Given the description of an element on the screen output the (x, y) to click on. 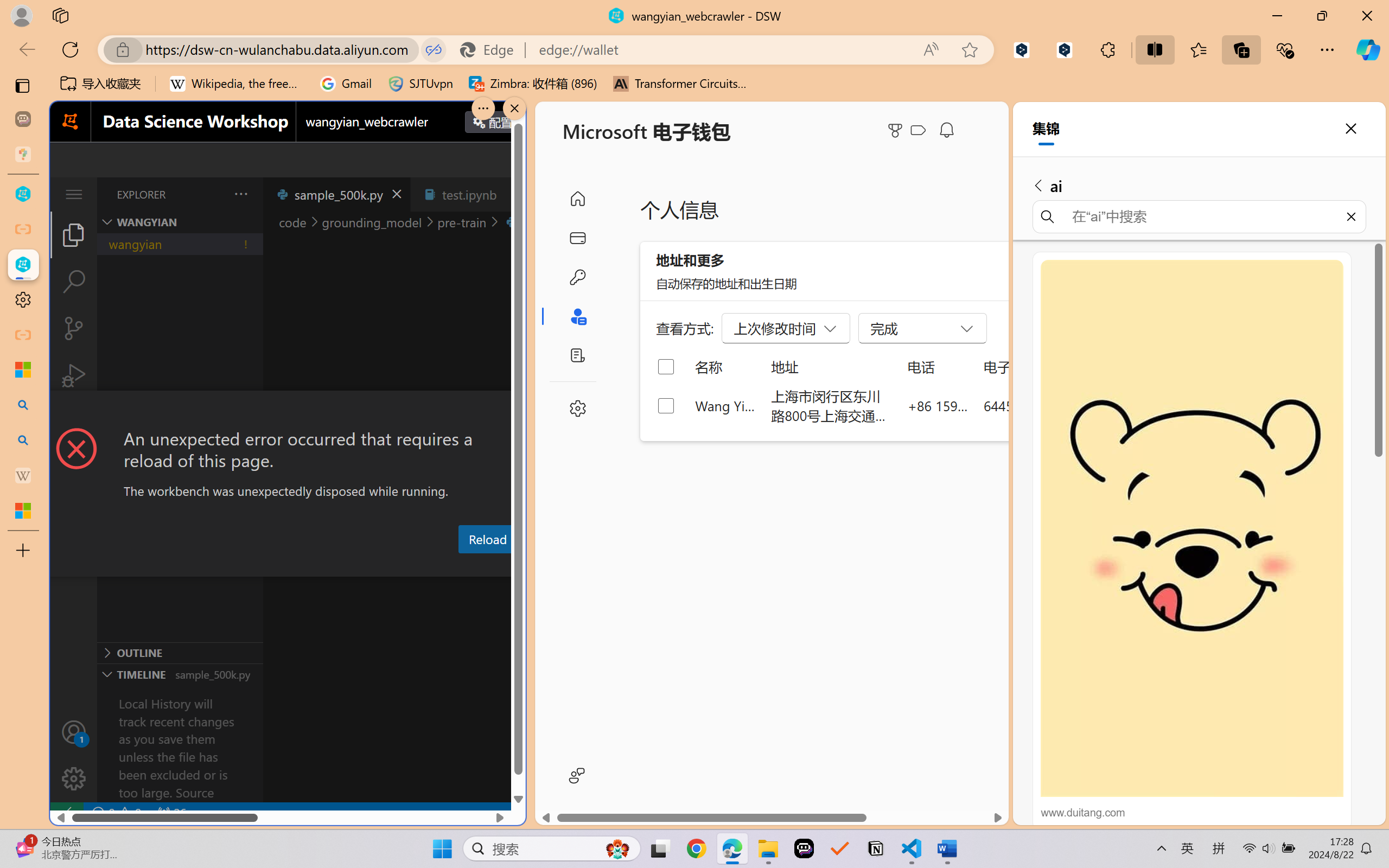
Close Dialog (520, 410)
Outline Section (179, 652)
Wang Yian (725, 405)
Class: menubar compact overflow-menu-only (73, 194)
test.ipynb (468, 194)
